Given the description of an element on the screen output the (x, y) to click on. 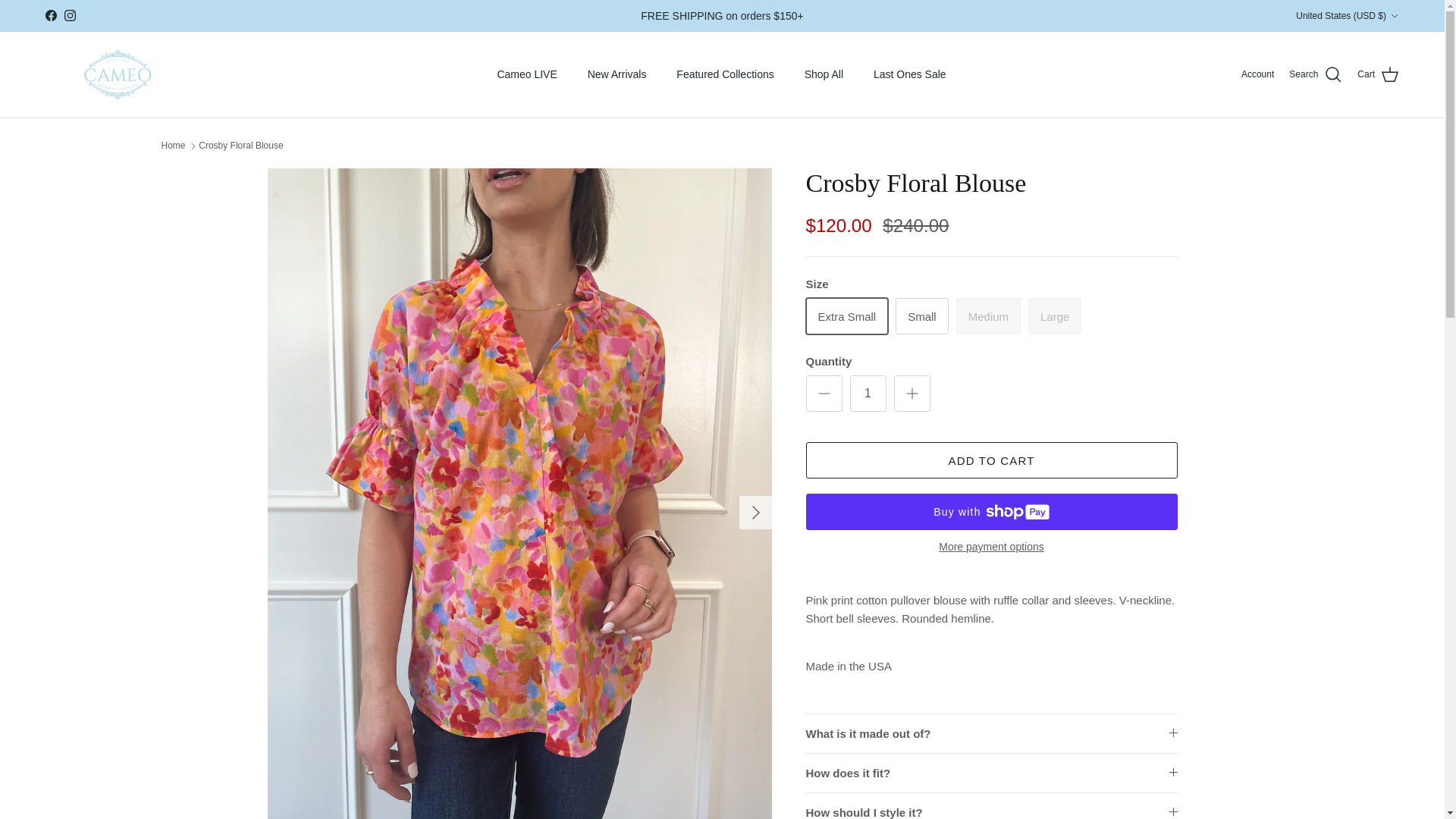
New Arrivals (617, 74)
1 (866, 393)
Featured Collections (724, 74)
Instagram (69, 15)
Sold out (1054, 316)
Cameo Boutique on Instagram (69, 15)
Last Ones Sale (909, 74)
Cart (1377, 75)
Shop All (823, 74)
Cameo Boutique (117, 74)
Account (1257, 74)
Facebook (50, 15)
Cameo LIVE (526, 74)
Cameo Boutique on Facebook (50, 15)
Sold out (988, 316)
